Given the description of an element on the screen output the (x, y) to click on. 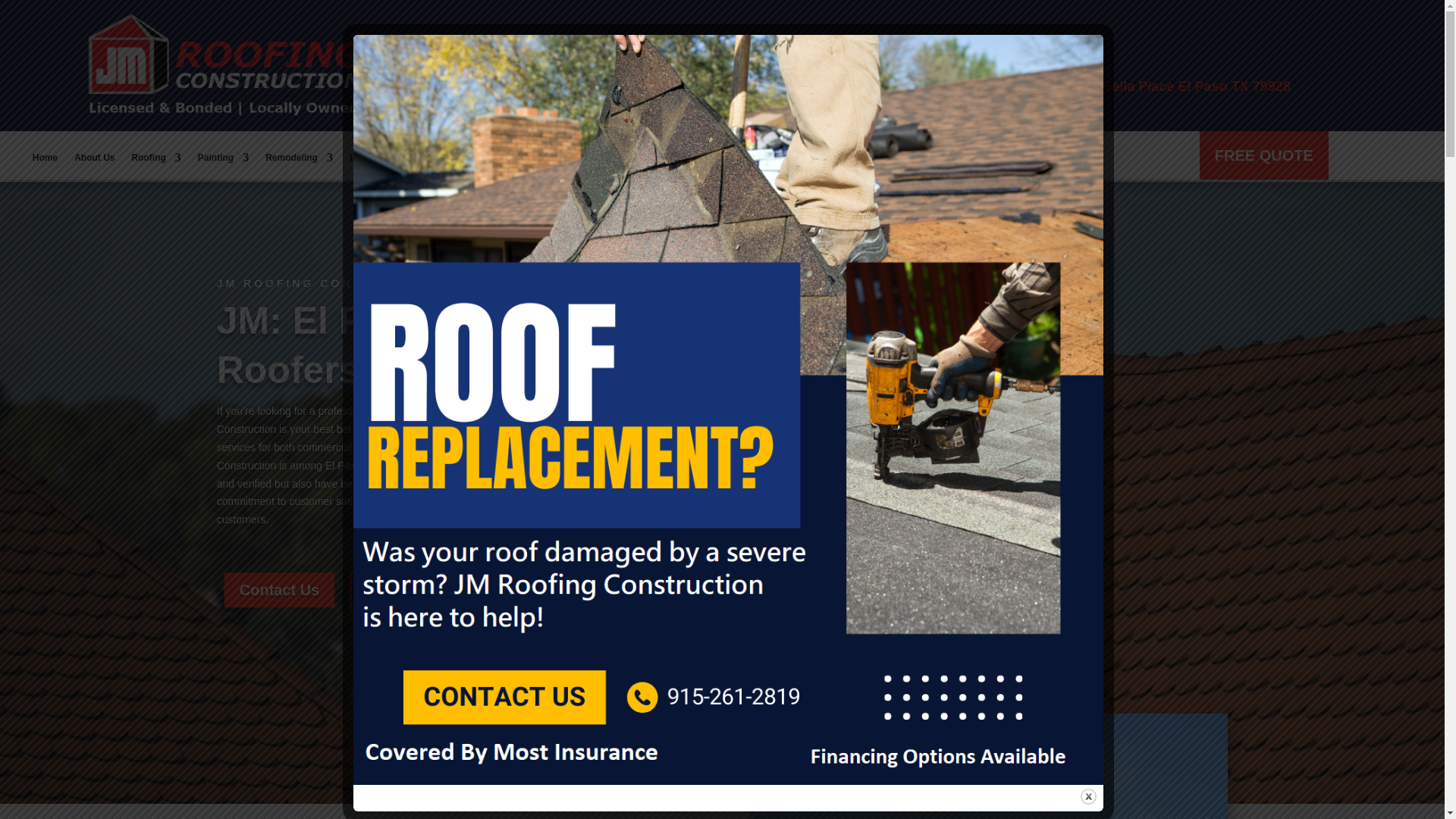
Landscaping (377, 160)
Contact Us (583, 160)
Visit Us (1074, 63)
Join Our Team (655, 160)
Painting (223, 160)
Hardscaping (457, 160)
Promos (526, 160)
Remodeling (298, 160)
Roofing (156, 160)
About Us (94, 160)
Home (45, 160)
